Given the description of an element on the screen output the (x, y) to click on. 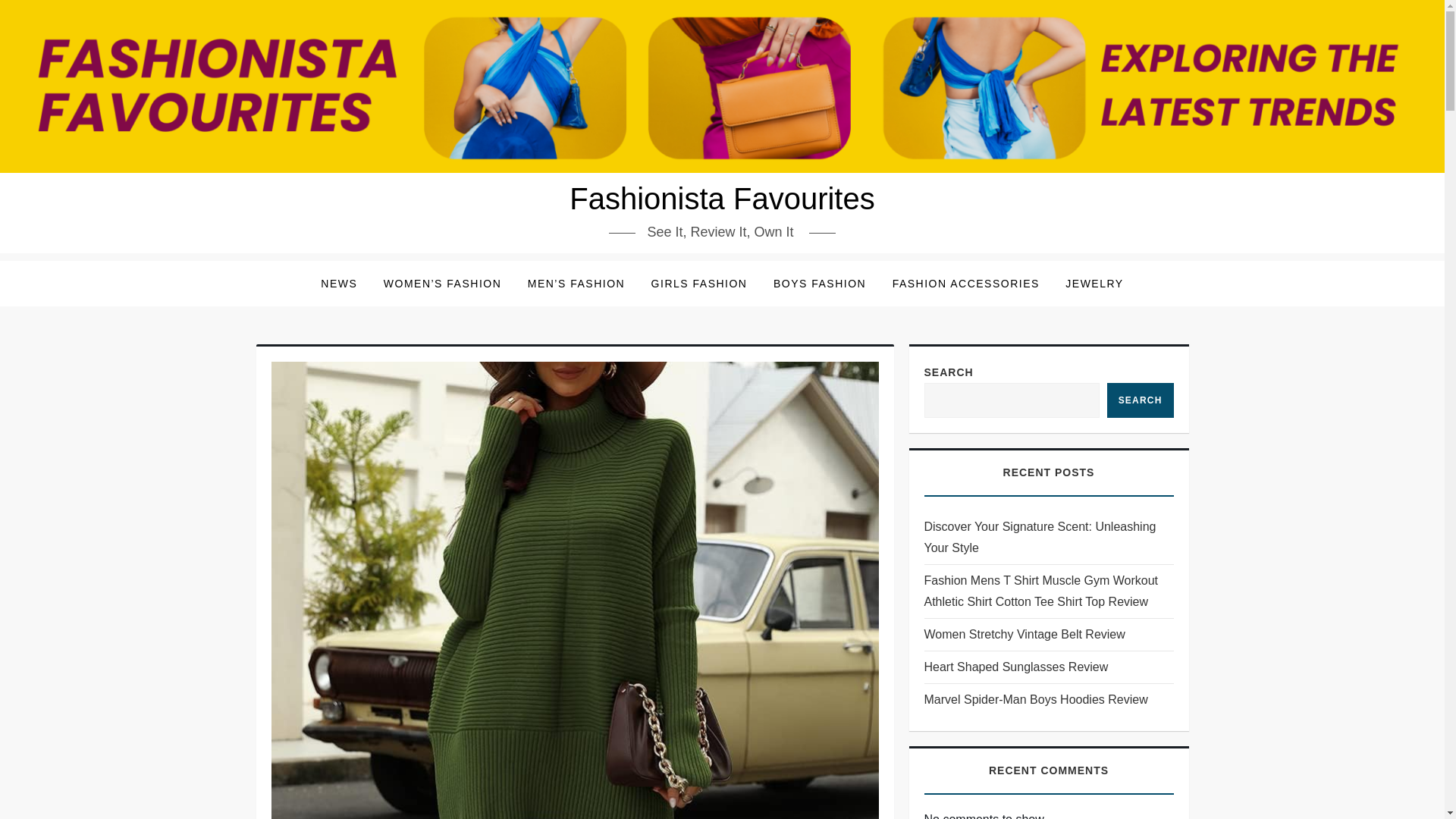
BOYS FASHION (819, 283)
GIRLS FASHION (699, 283)
Fashionista Favourites (722, 198)
NEWS (338, 283)
JEWELRY (1094, 283)
Discover Your Signature Scent: Unleashing Your Style (1048, 537)
SEARCH (1139, 400)
Women Stretchy Vintage Belt Review (1023, 634)
FASHION ACCESSORIES (965, 283)
